Given the description of an element on the screen output the (x, y) to click on. 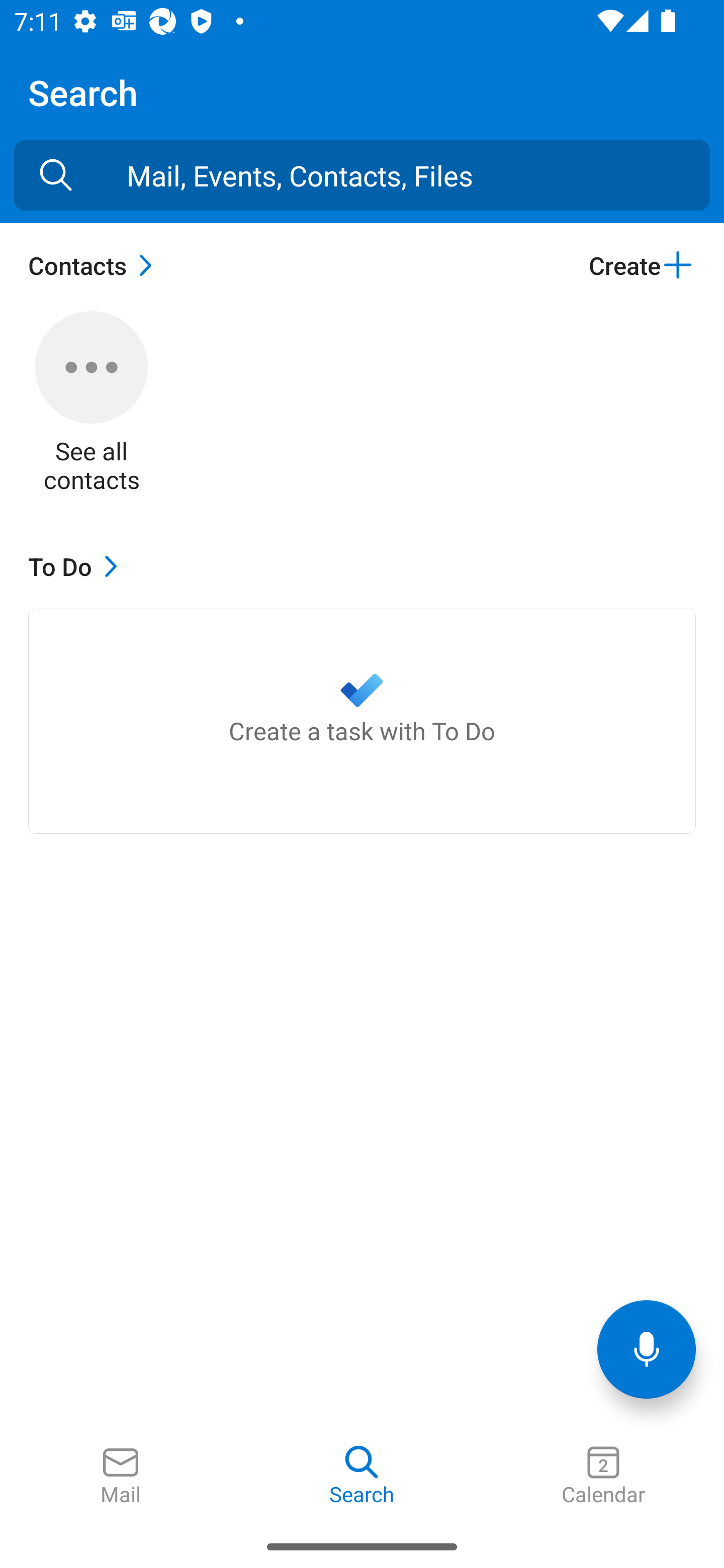
Search Mail, Events, Contacts, Files (55, 174)
Contacts (95, 264)
Create Create contact (641, 264)
See all contacts (91, 402)
To Do (77, 565)
Create a task with To Do (361, 721)
Voice Assistant (646, 1348)
Mail (120, 1475)
Calendar (603, 1475)
